Given the description of an element on the screen output the (x, y) to click on. 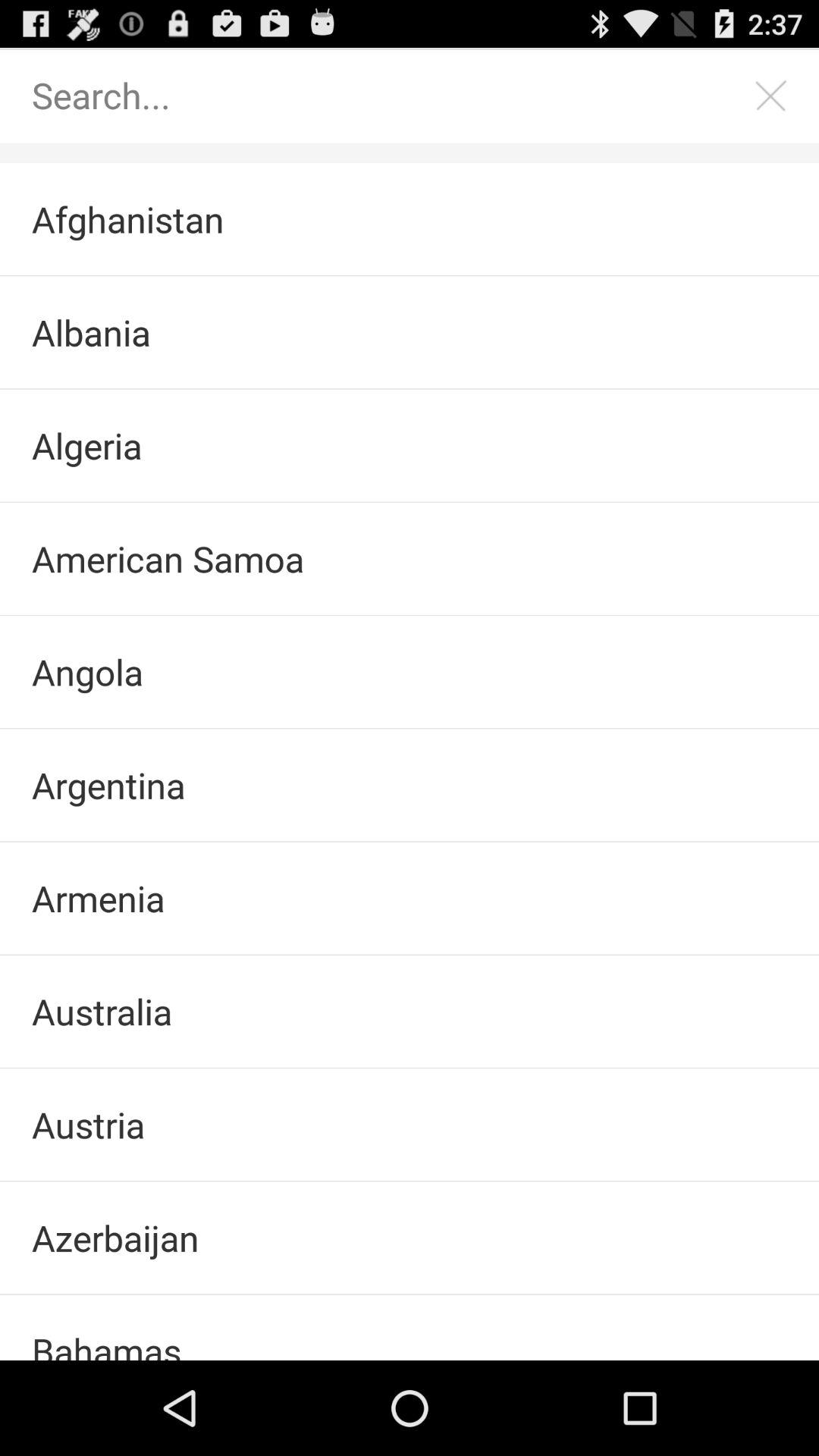
search bar close button (771, 95)
